Given the description of an element on the screen output the (x, y) to click on. 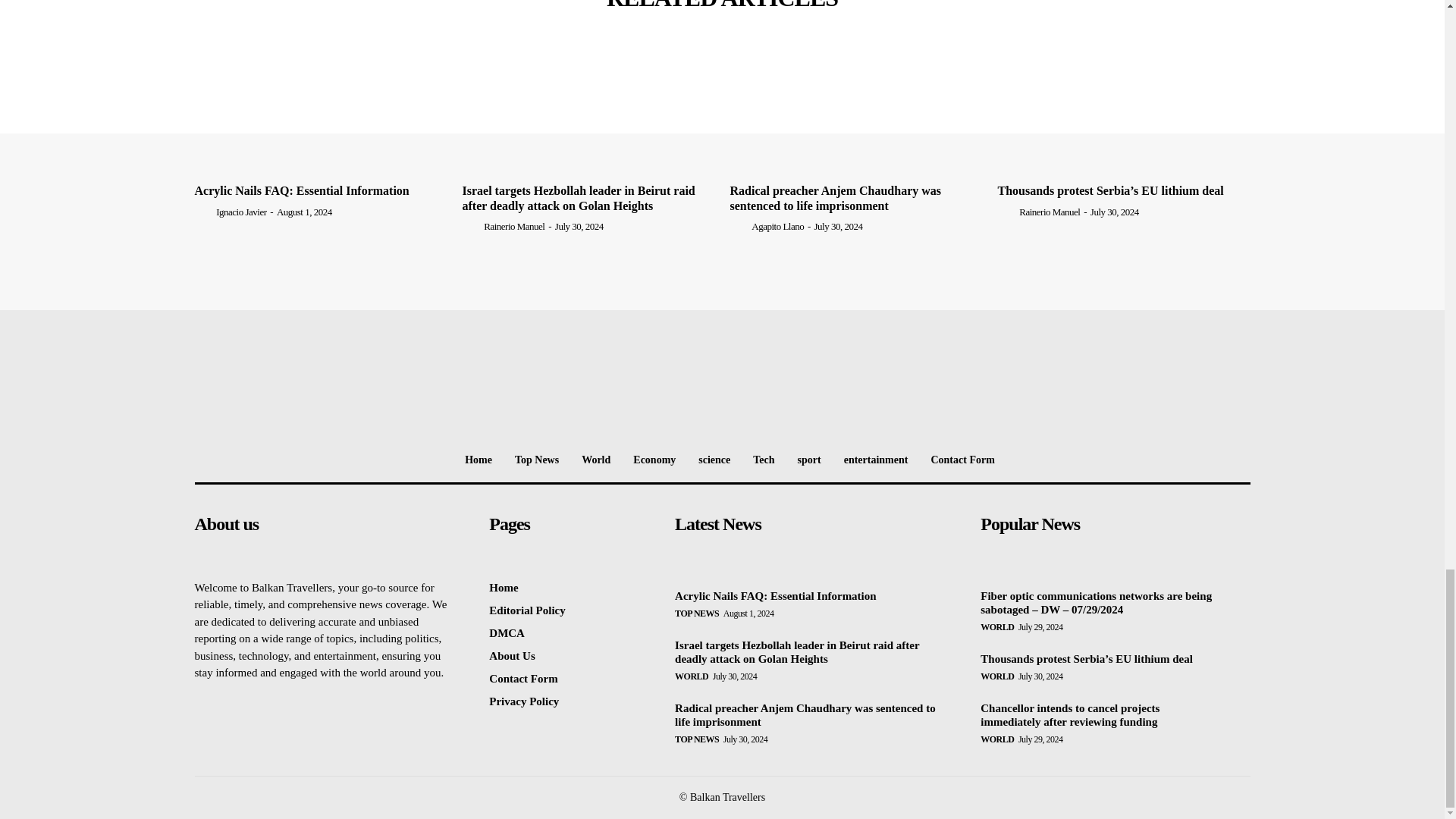
Acrylic Nails FAQ: Essential Information (319, 110)
